Given the description of an element on the screen output the (x, y) to click on. 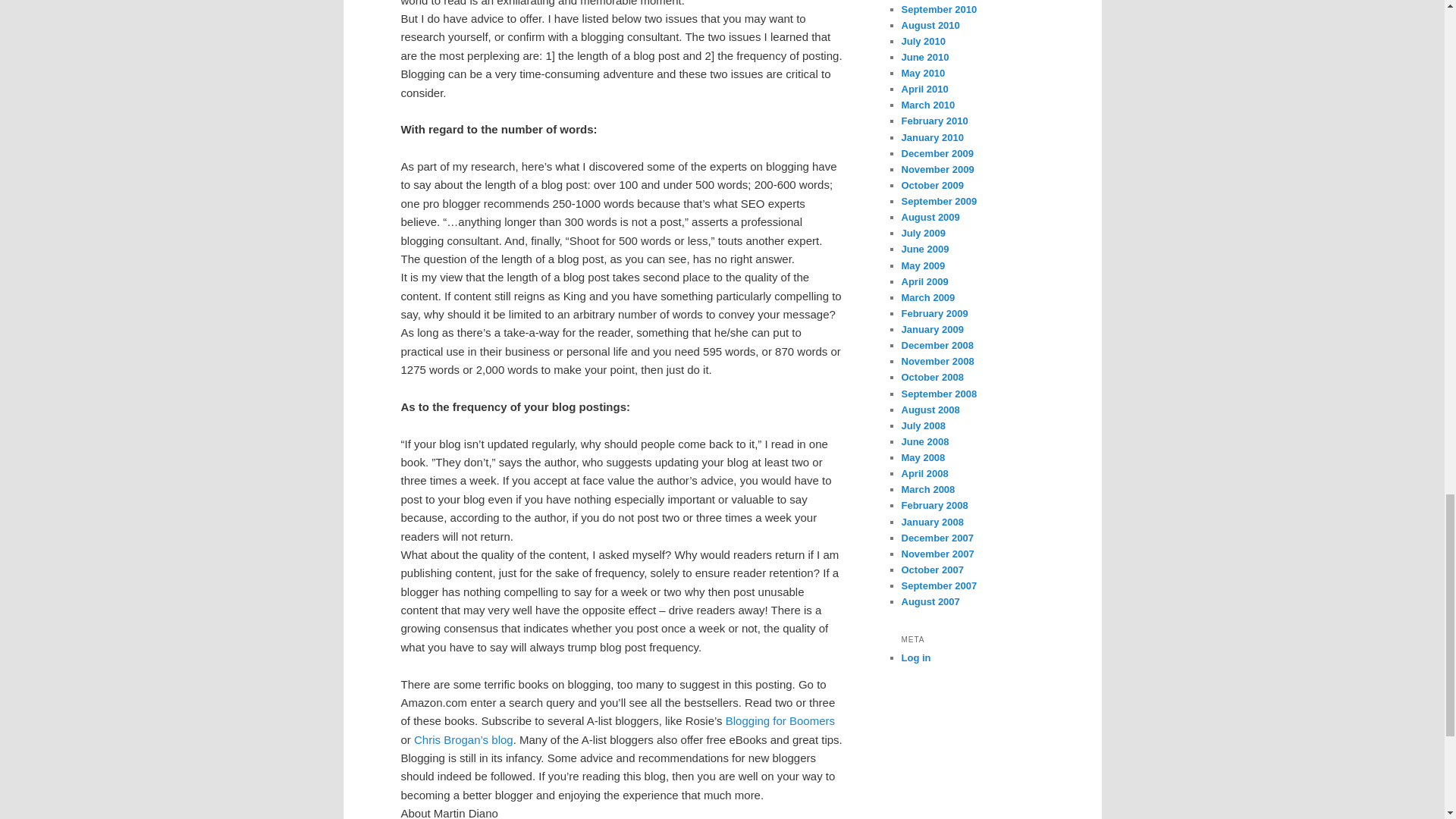
Blogging for Boomers (779, 720)
